Given the description of an element on the screen output the (x, y) to click on. 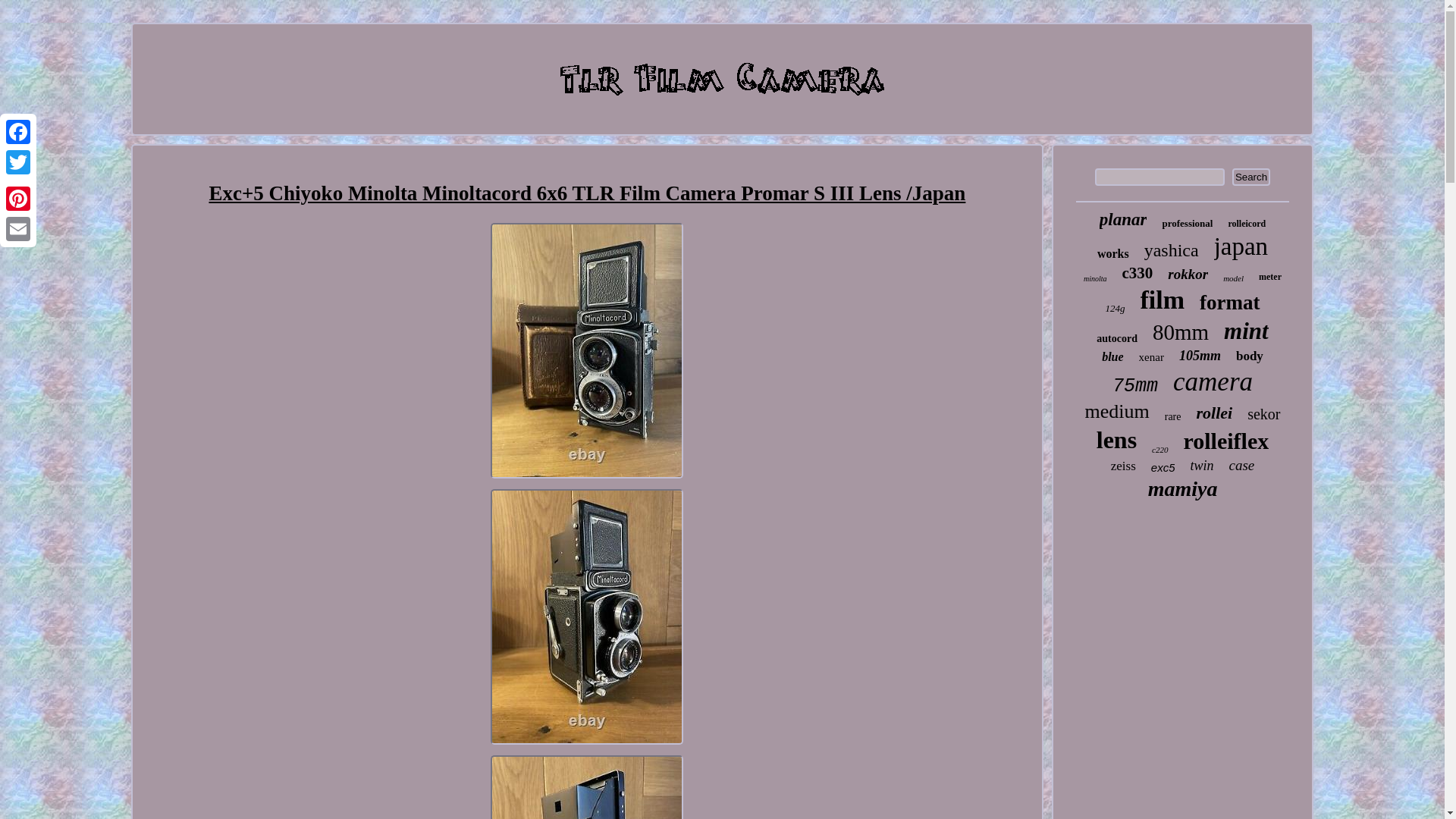
c330 (1137, 272)
rokkor (1187, 274)
Search (1250, 176)
Search (1250, 176)
Pinterest (17, 198)
meter (1270, 276)
Twitter (17, 162)
model (1233, 277)
planar (1123, 219)
rolleicord (1246, 224)
124g (1115, 308)
Facebook (17, 132)
yashica (1171, 250)
professional (1186, 223)
Email (17, 228)
